Given the description of an element on the screen output the (x, y) to click on. 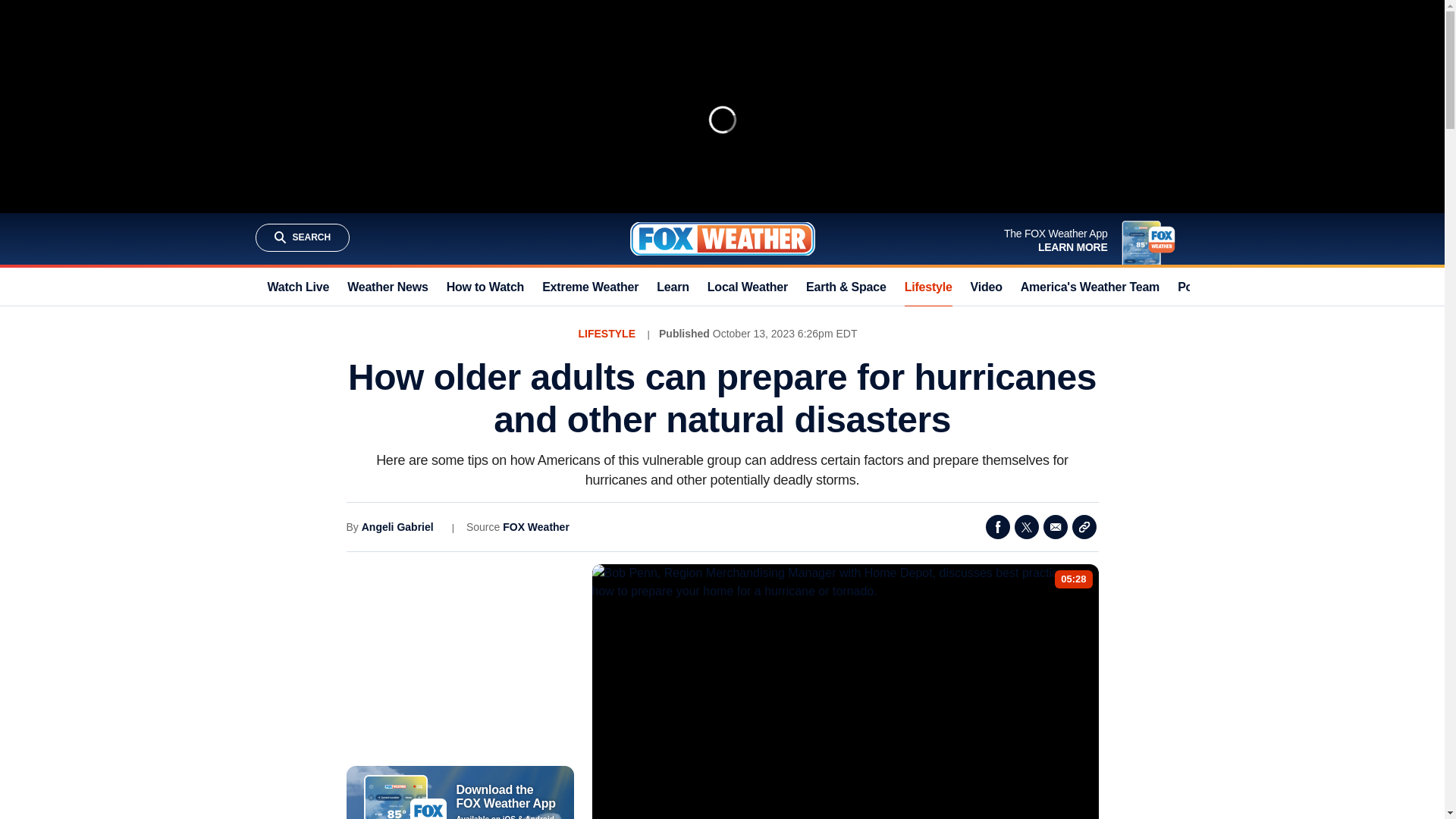
Angeli Gabriel (397, 526)
SEARCH (302, 237)
Weather News (387, 286)
Extreme Weather (590, 286)
Lifestyle (928, 286)
Twitter (1026, 526)
Facebook (997, 526)
Fox Weather (720, 238)
Video (987, 286)
05:28 (1073, 579)
LIFESTYLE (606, 333)
Watch Live (297, 286)
Email (1055, 526)
Copy Link (1083, 526)
Local Weather (747, 286)
